Given the description of an element on the screen output the (x, y) to click on. 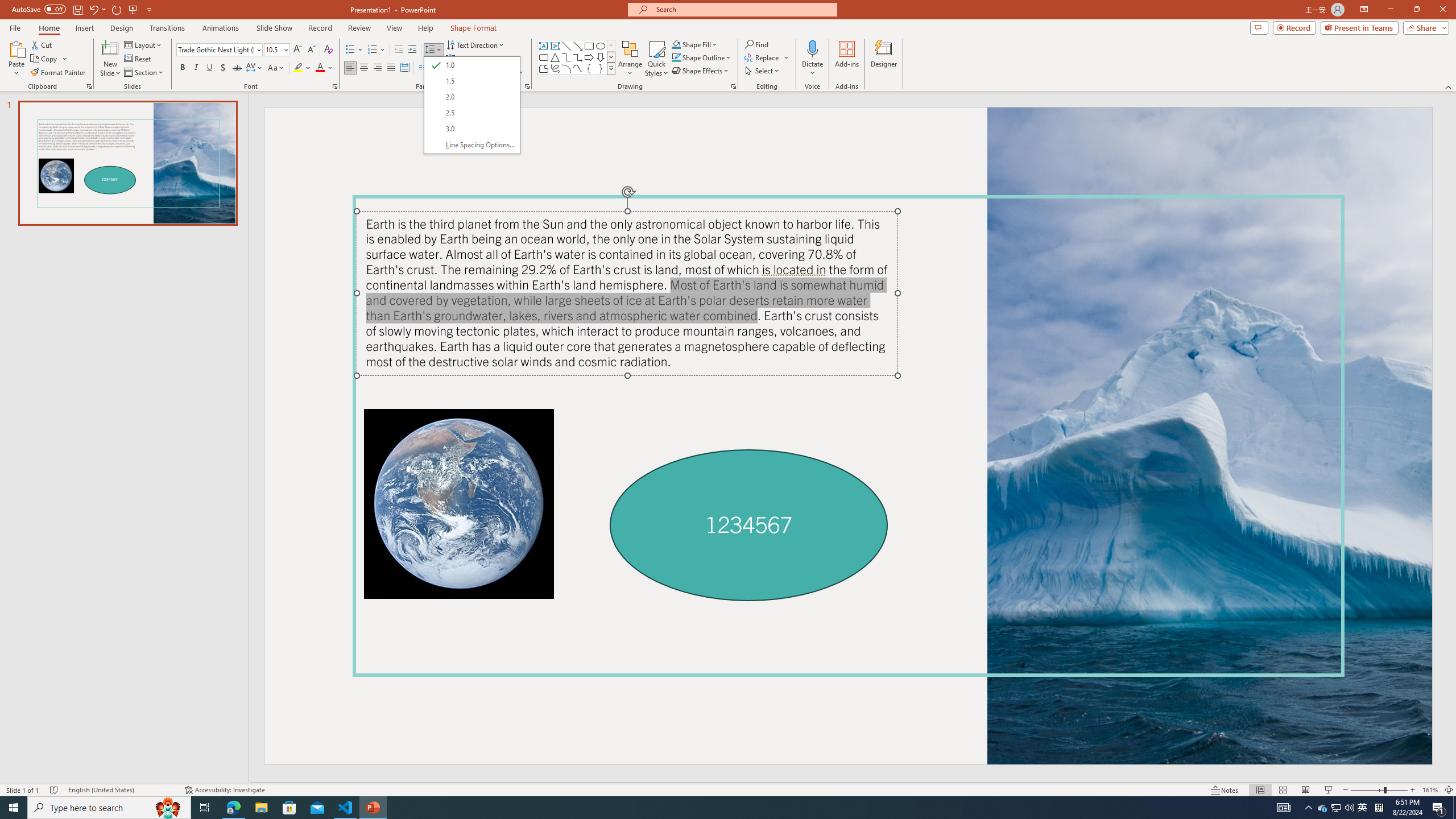
Shape Outline Teal, Accent 1 (675, 56)
